Given the description of an element on the screen output the (x, y) to click on. 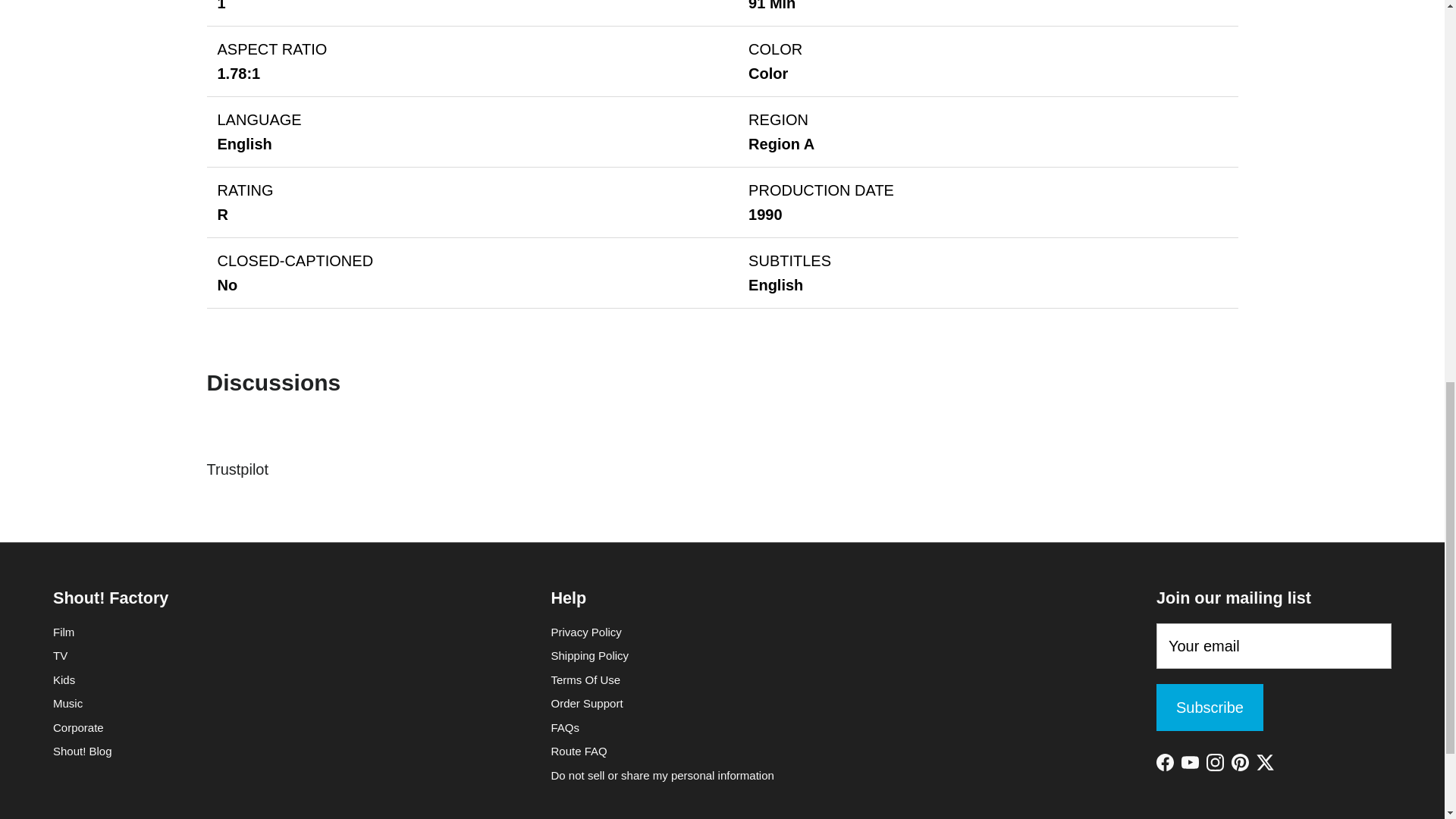
Shout! Factory on Pinterest (1240, 762)
Shout! Factory on Facebook (1164, 762)
Shout! Factory on YouTube (1189, 762)
Shout! Factory on Twitter (1265, 762)
Shout! Factory on Instagram (1215, 762)
